Given the description of an element on the screen output the (x, y) to click on. 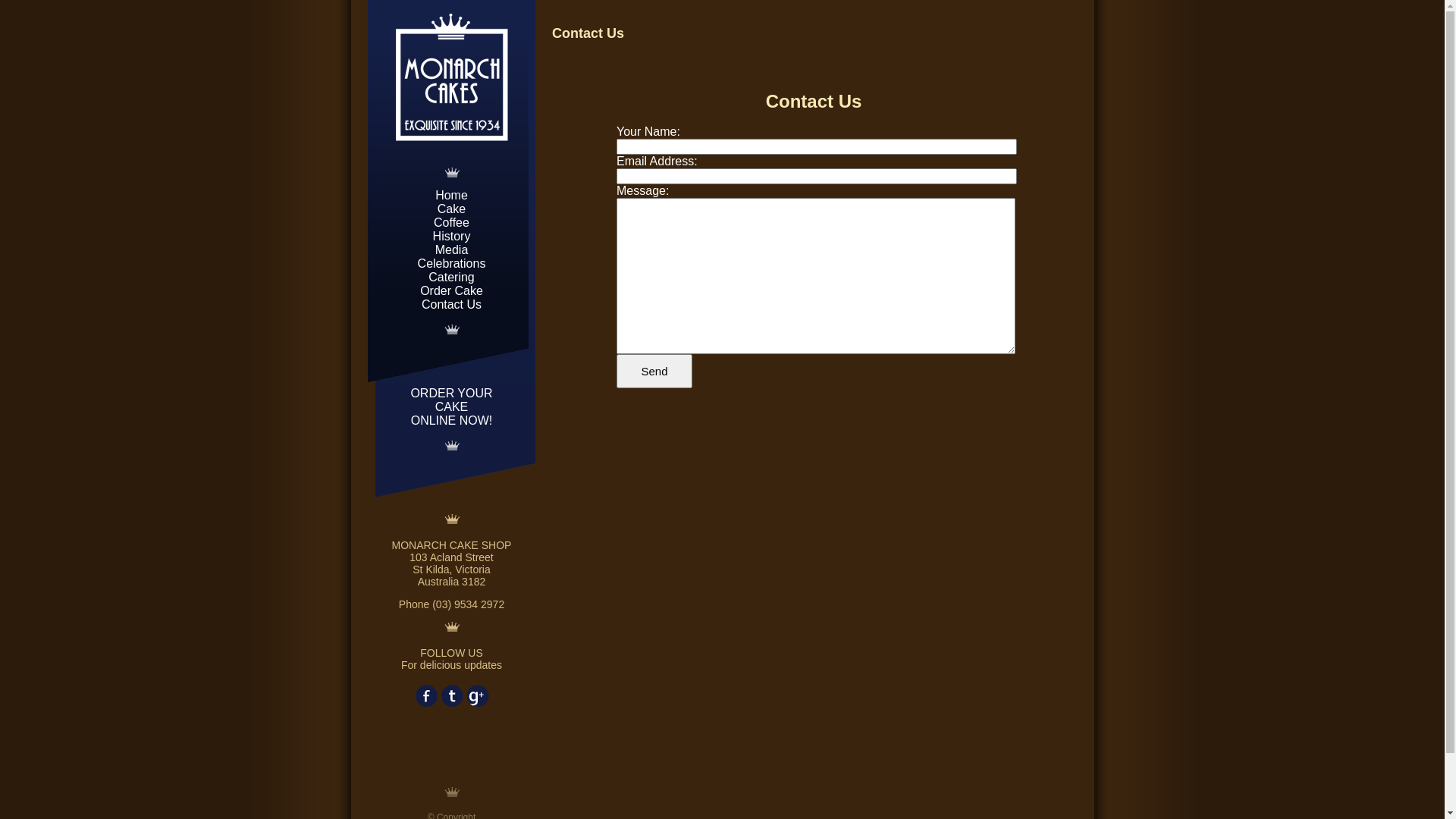
Media Element type: text (451, 249)
facebook Element type: text (425, 695)
Coffee Element type: text (451, 222)
Contact Us Element type: text (451, 304)
google+ Element type: text (476, 695)
Celebrations Element type: text (451, 263)
Cake Element type: text (451, 208)
History Element type: text (451, 235)
Catering Element type: text (450, 276)
Send Element type: text (654, 371)
ORDER YOUR
CAKE
ONLINE NOW! Element type: text (451, 406)
twitter Element type: text (450, 695)
Order Cake Element type: text (451, 290)
Home Element type: text (451, 194)
